Given the description of an element on the screen output the (x, y) to click on. 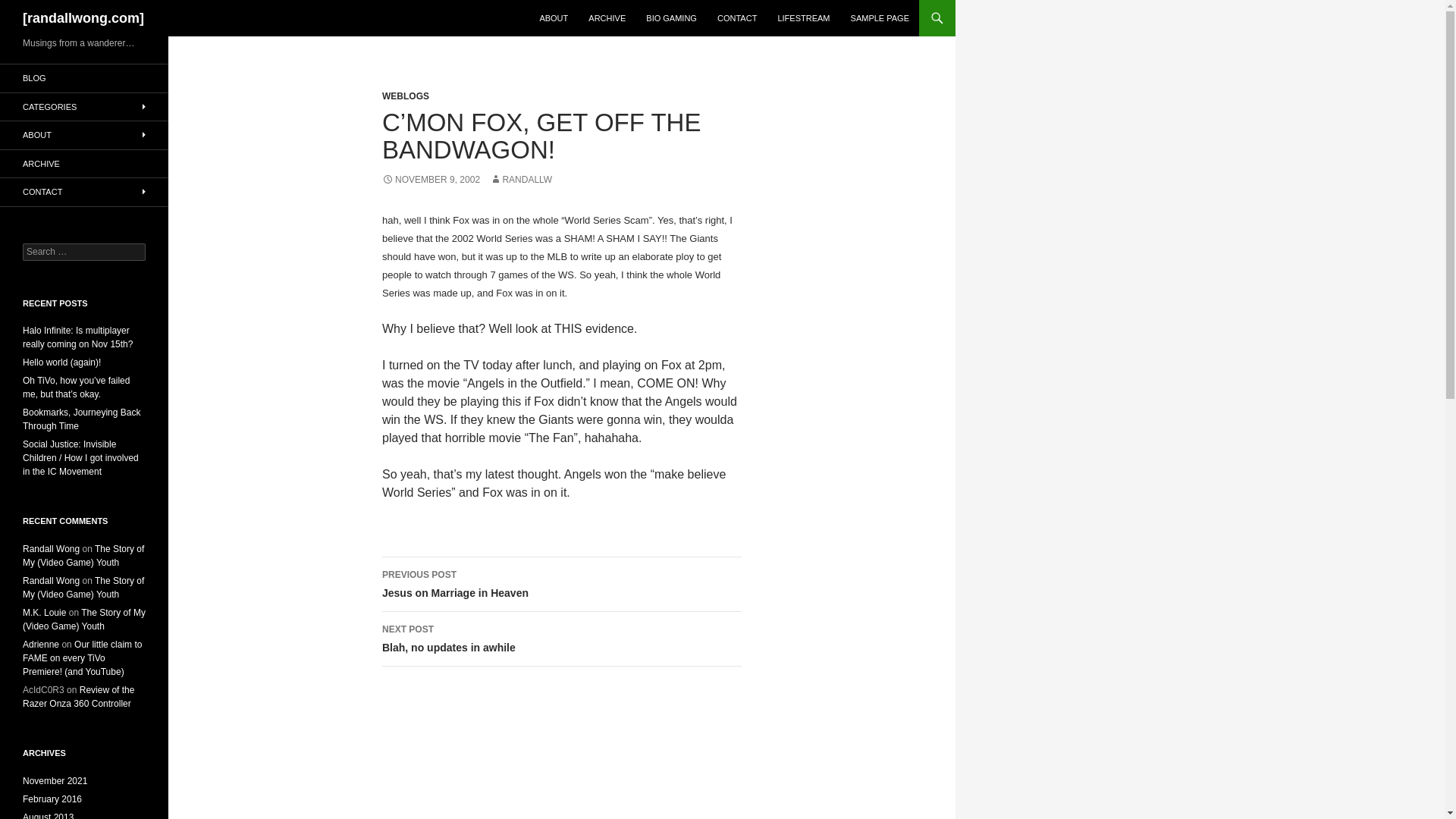
CONTACT (561, 584)
LIFESTREAM (736, 18)
BLOG (803, 18)
Bookmarks, Journeying Back Through Time (84, 78)
Search (81, 419)
WEBLOGS (30, 8)
ARCHIVE (405, 95)
SAMPLE PAGE (84, 163)
CONTACT (879, 18)
